Given the description of an element on the screen output the (x, y) to click on. 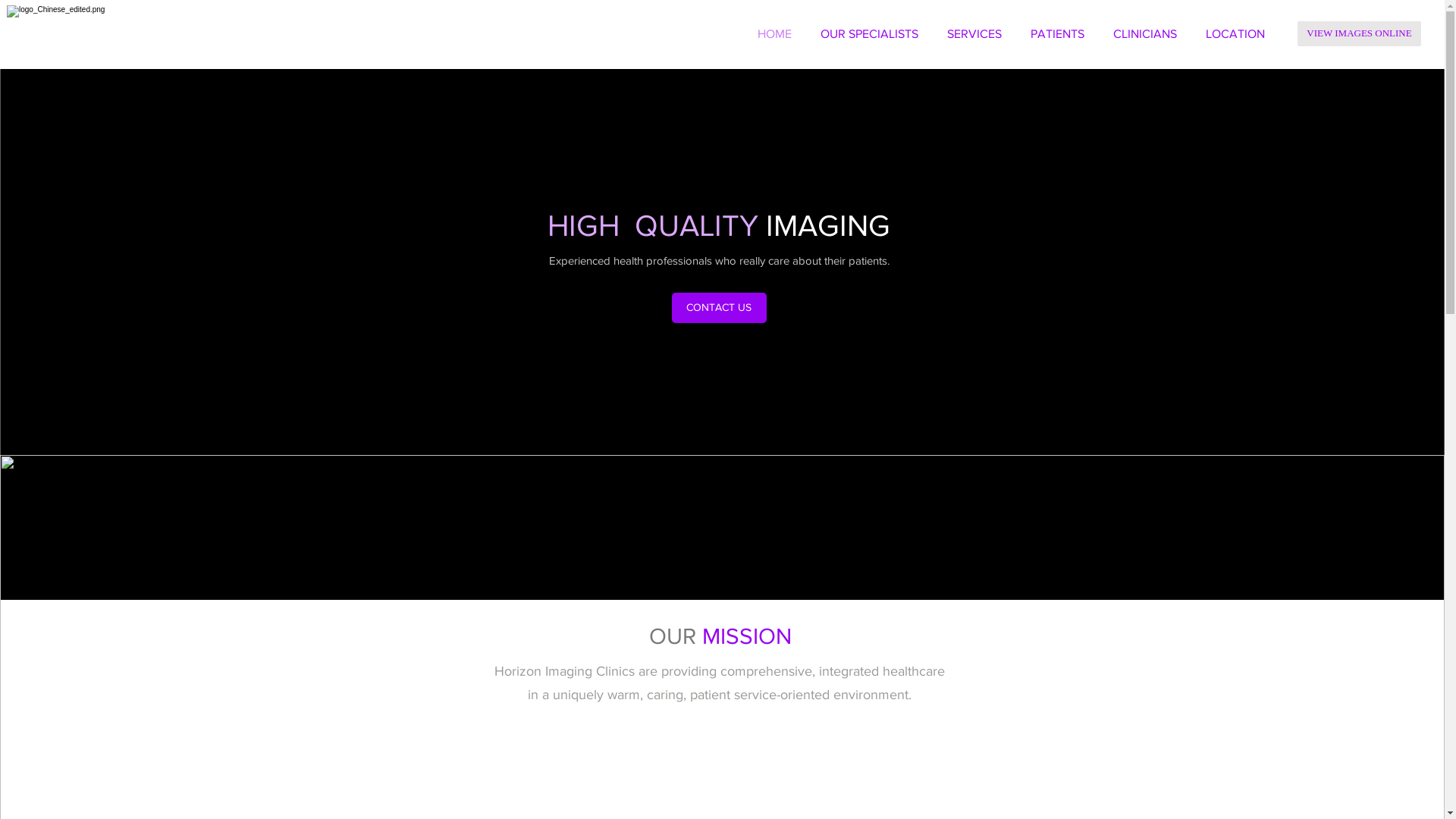
VIEW IMAGES ONLINE Element type: text (1359, 33)
OUR SPECIALISTS Element type: text (869, 33)
CLINICIANS Element type: text (1144, 33)
LOCATION Element type: text (1235, 33)
SERVICES Element type: text (974, 33)
PATIENTS Element type: text (1057, 33)
CONTACT US Element type: text (718, 307)
HOME Element type: text (774, 33)
